Given the description of an element on the screen output the (x, y) to click on. 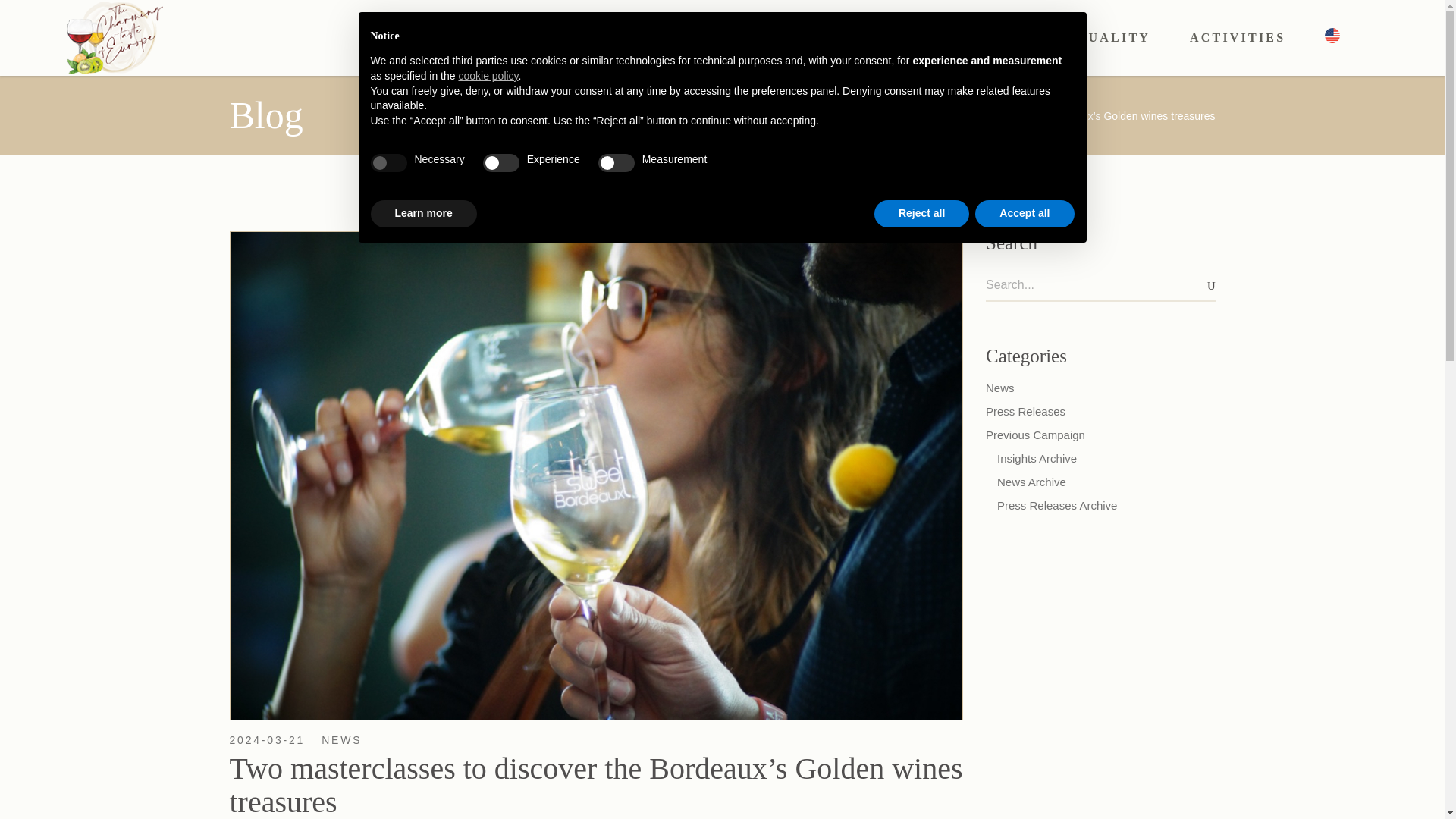
CONSORTIA (895, 38)
TERRITORIES (753, 38)
Home (820, 114)
THE CAMPAIGN (596, 38)
false (616, 162)
ACTIVITIES (1237, 38)
EUROPEAN QUALITY (1067, 38)
News (858, 114)
false (501, 162)
NEWS (341, 739)
2024-03-21 (266, 739)
true (387, 162)
